Given the description of an element on the screen output the (x, y) to click on. 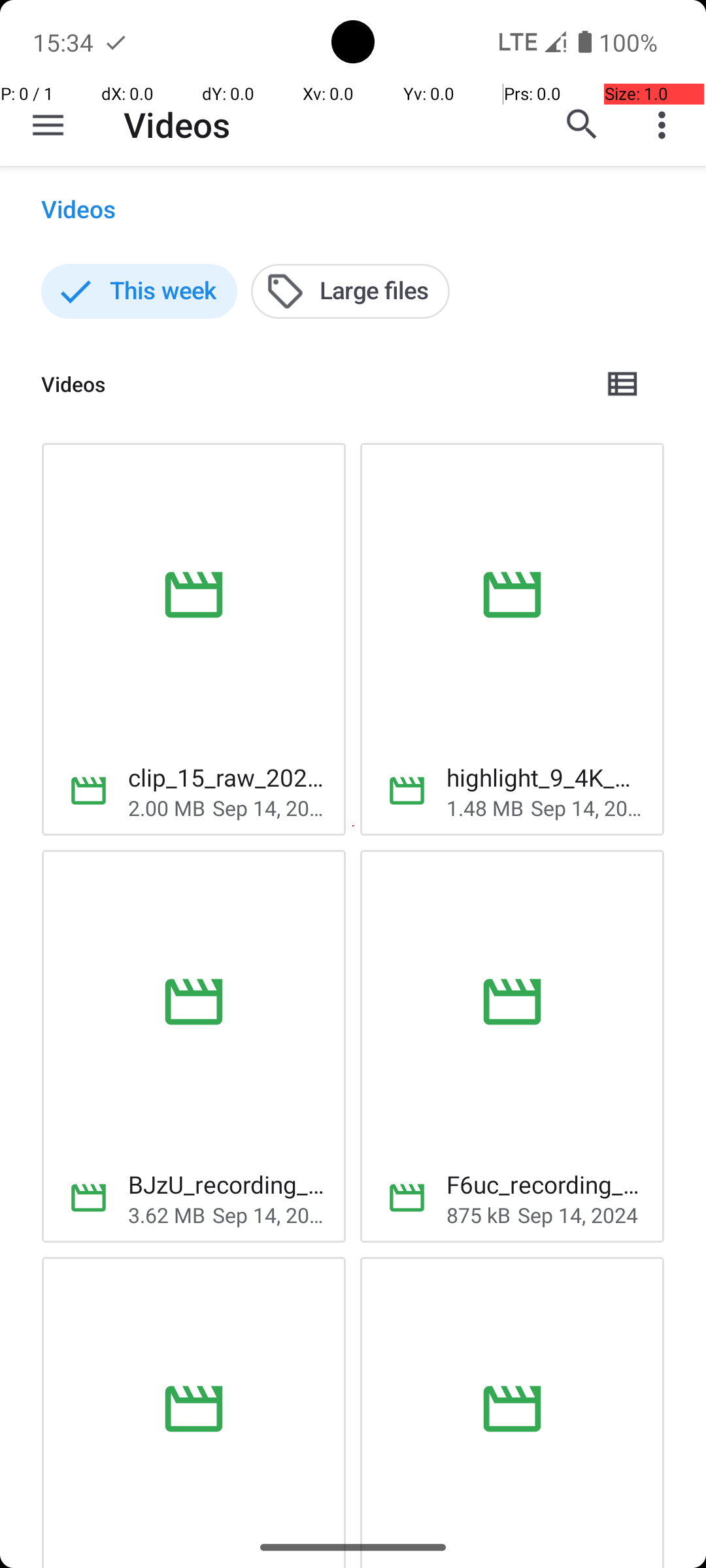
clip_15_raw_2023_05_29.mp4 Element type: android.widget.TextView (226, 776)
2.00 MB Element type: android.widget.TextView (166, 807)
Sep 14, 2024 Element type: android.widget.TextView (268, 807)
highlight_9_4K_UsMM.mp4 Element type: android.widget.TextView (544, 776)
1.48 MB Element type: android.widget.TextView (484, 807)
BJzU_recording_19_4K.mp4 Element type: android.widget.TextView (226, 1183)
3.62 MB Element type: android.widget.TextView (166, 1214)
F6uc_recording_24_HD.mp4 Element type: android.widget.TextView (544, 1183)
875 kB Element type: android.widget.TextView (478, 1214)
